Given the description of an element on the screen output the (x, y) to click on. 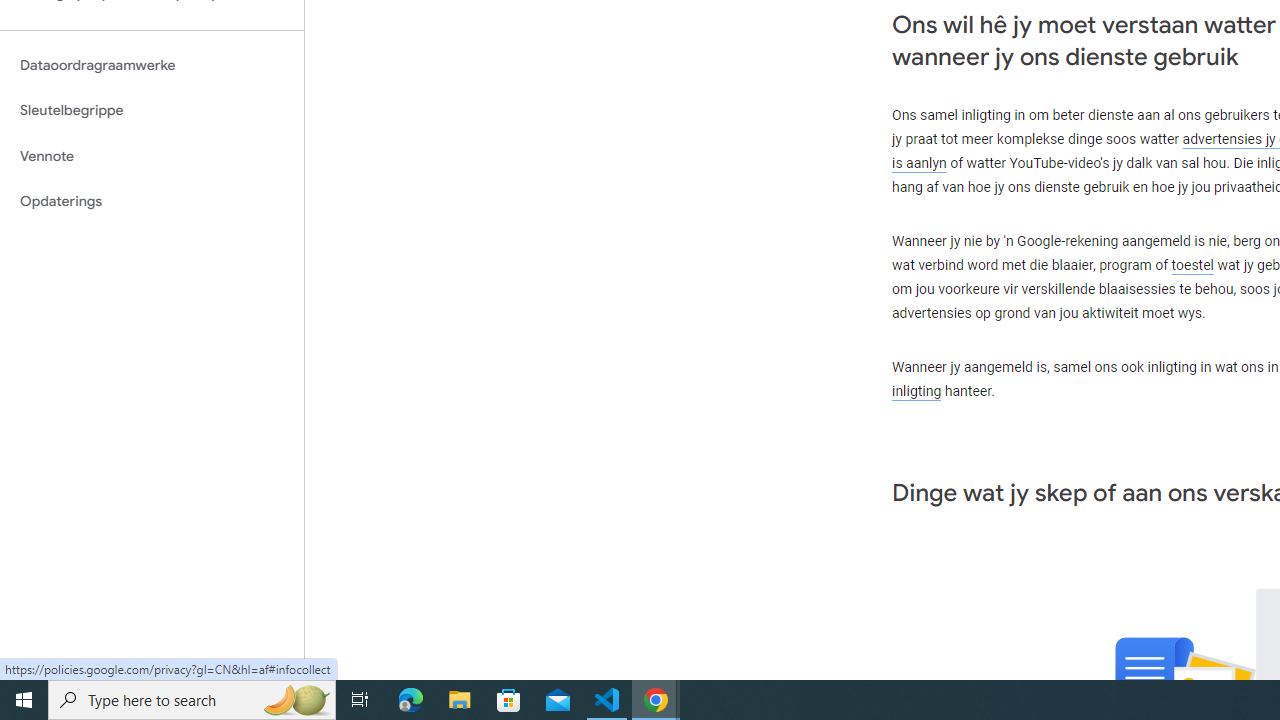
Vennote (152, 156)
Dataoordragraamwerke (152, 65)
toestel (1192, 265)
Sleutelbegrippe (152, 110)
Opdaterings (152, 201)
